Given the description of an element on the screen output the (x, y) to click on. 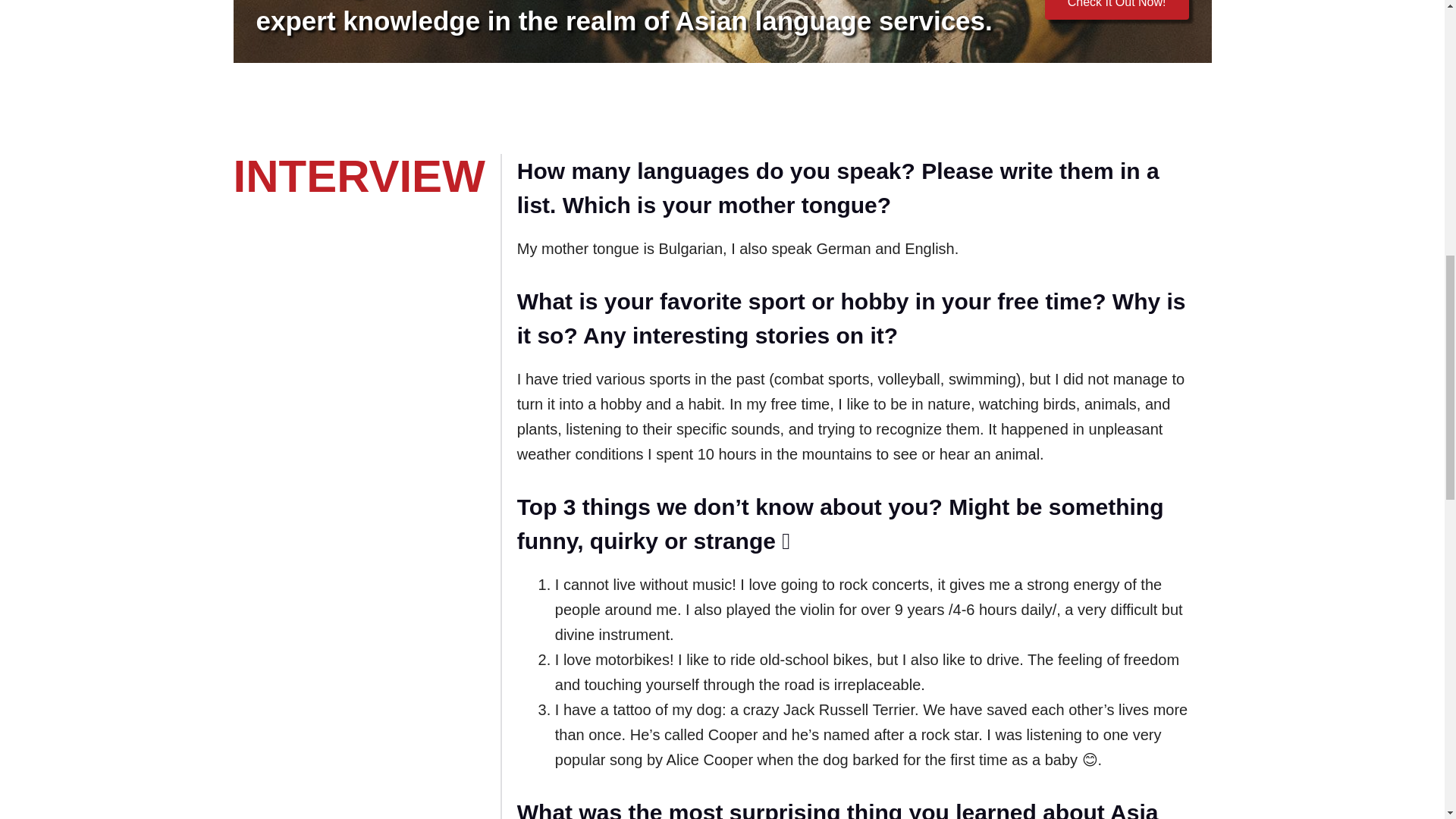
Check It Out Now! (1117, 9)
